Given the description of an element on the screen output the (x, y) to click on. 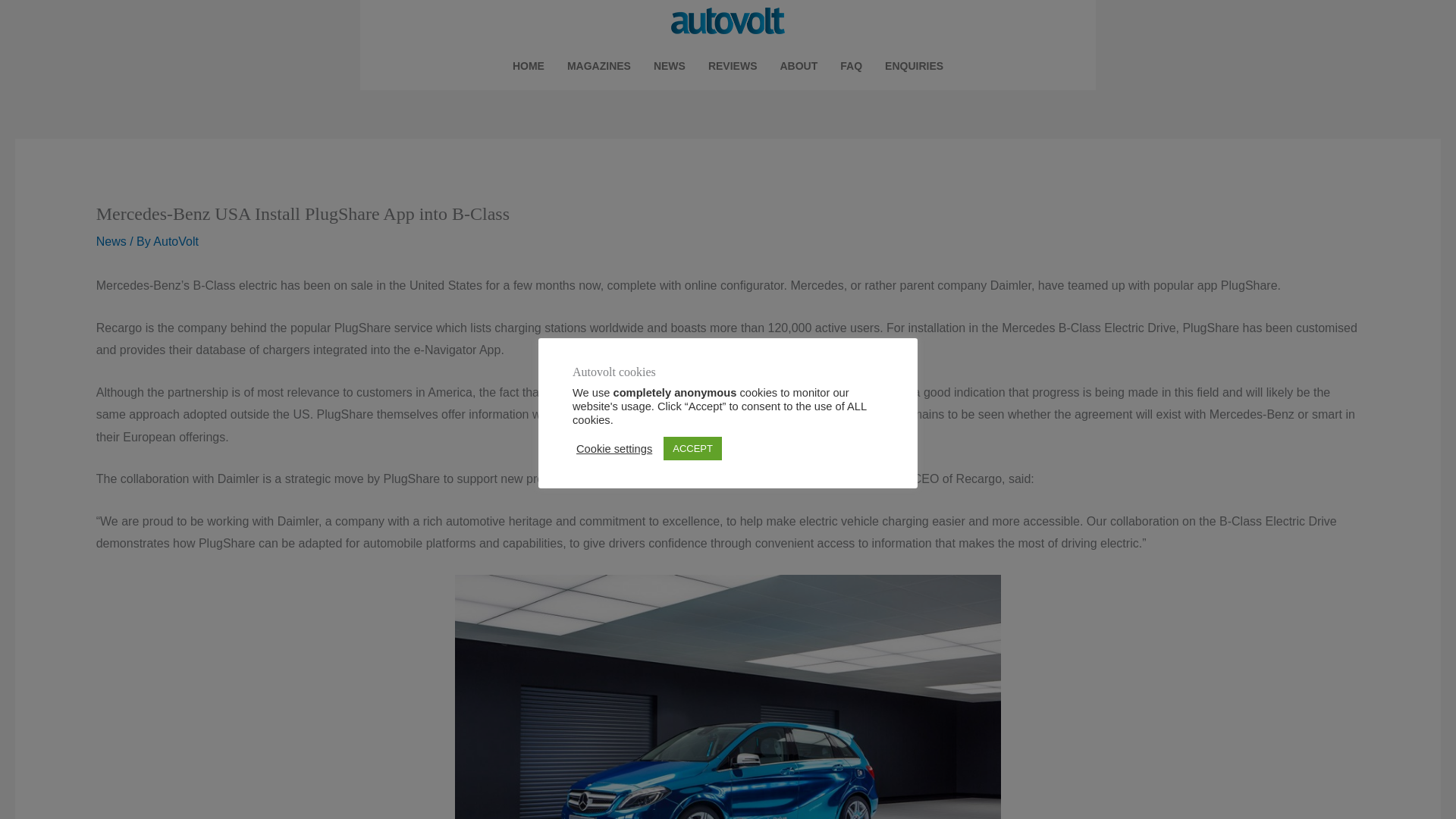
ENQUIRIES (914, 65)
NEWS (669, 65)
REVIEWS (732, 65)
MAGAZINES (599, 65)
AutoVolt (175, 241)
ABOUT (798, 65)
Home of Autovolt, the electric and hybrid vehicle magazine (528, 65)
News (111, 241)
Get Autovolt in print and digital (599, 65)
HOME (528, 65)
Contact Autovolt (914, 65)
FAQ (850, 65)
The latest news from Autovolt (669, 65)
View all posts by AutoVolt (175, 241)
Frequently Asked Questions (850, 65)
